Given the description of an element on the screen output the (x, y) to click on. 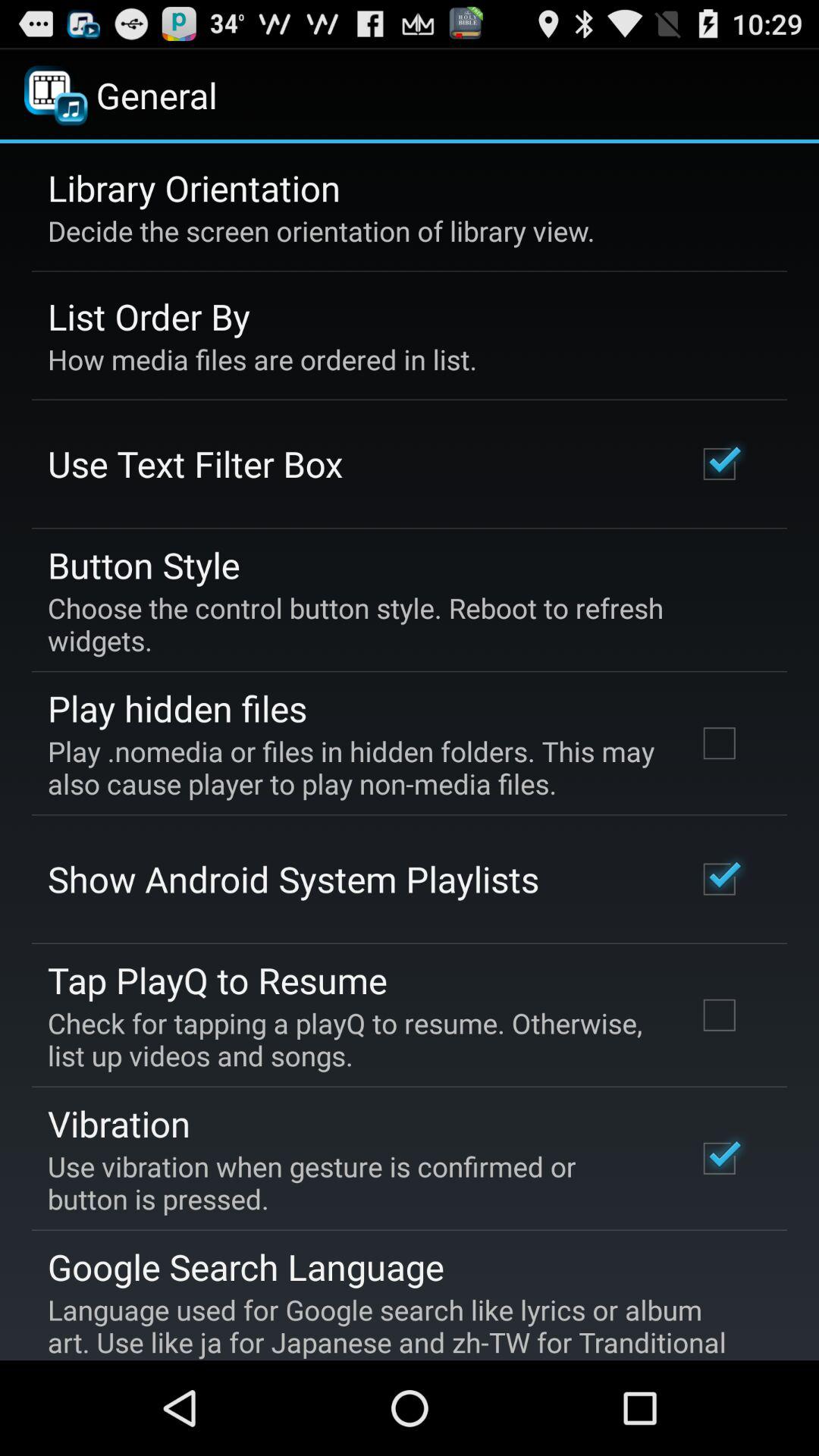
choose app above show android system app (351, 767)
